Given the description of an element on the screen output the (x, y) to click on. 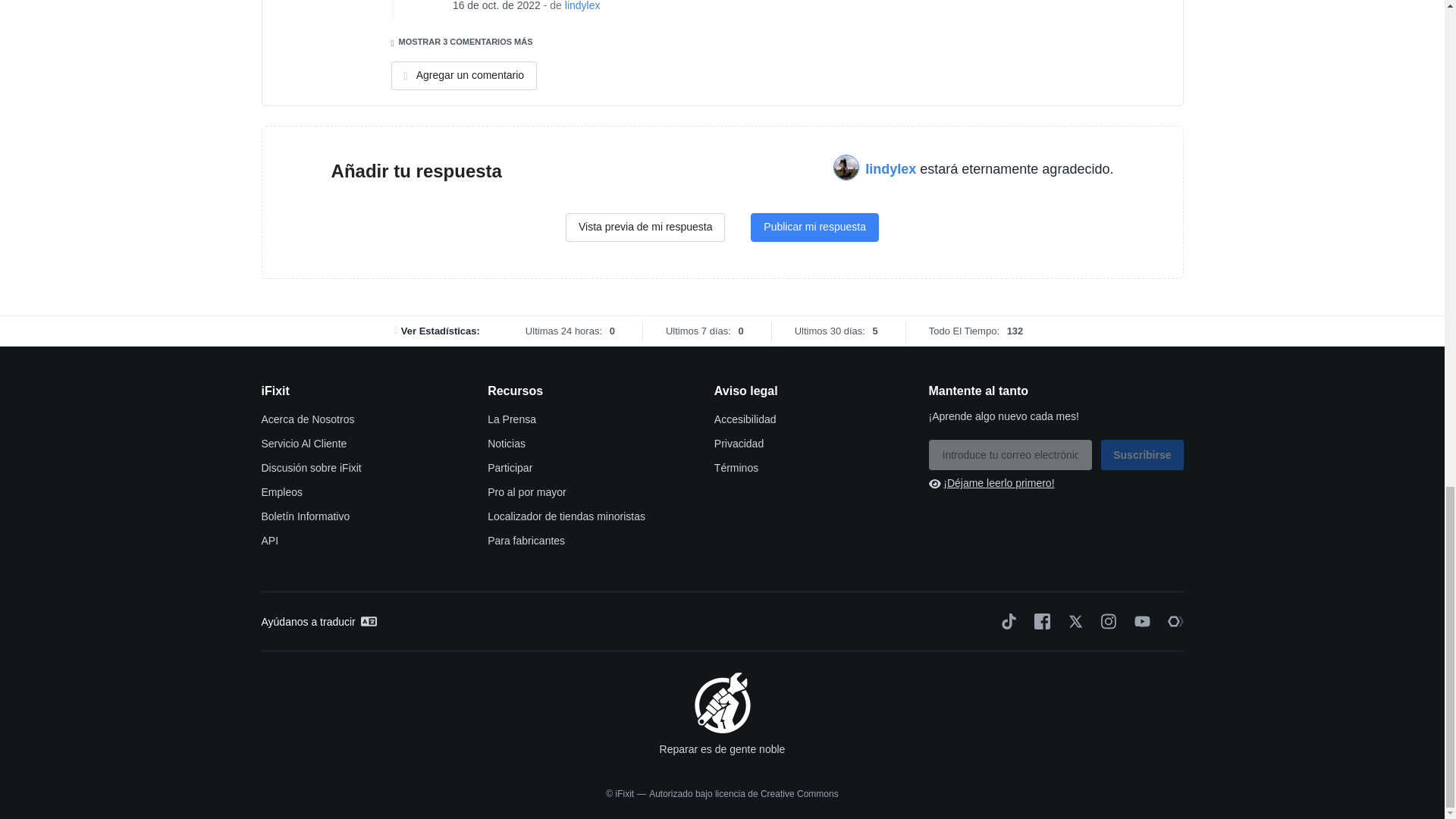
Sun, 16 Oct 2022 21:18:35 -0700 (496, 5)
